Given the description of an element on the screen output the (x, y) to click on. 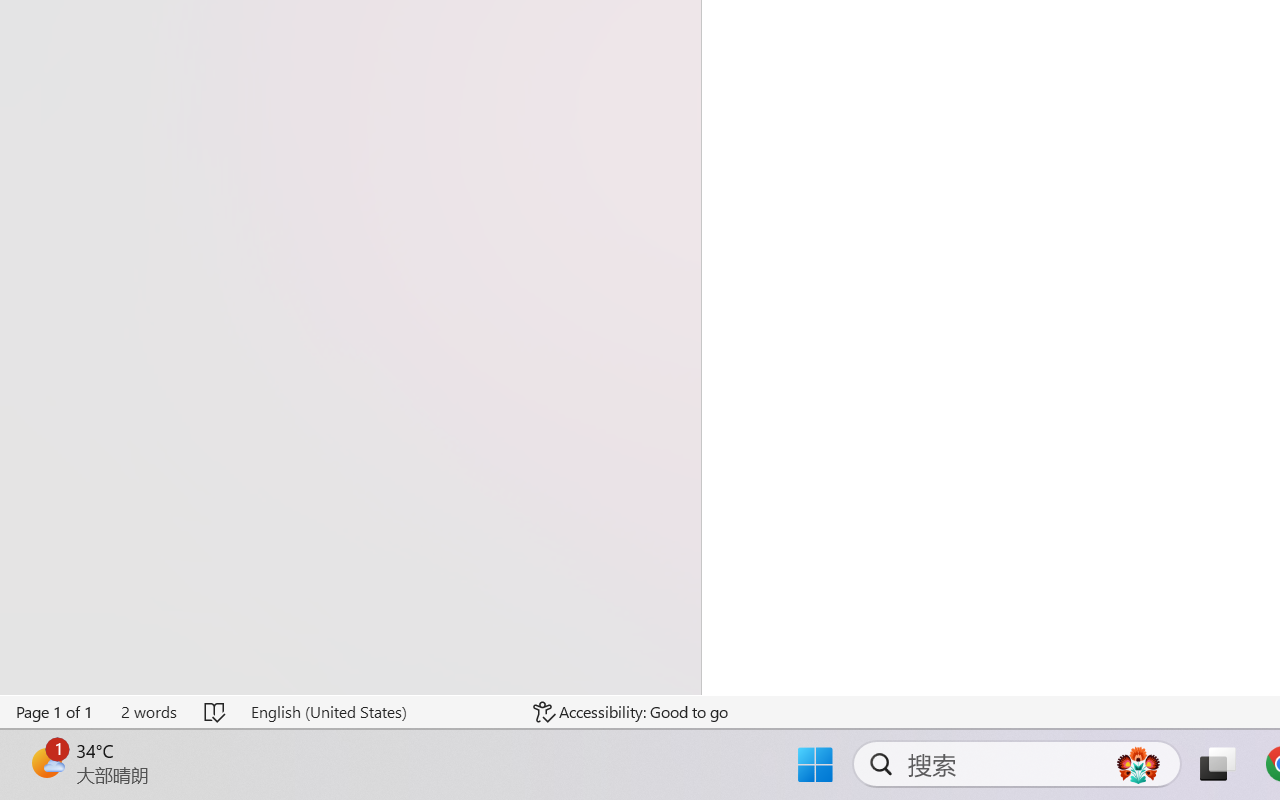
Page Number Page 1 of 1 (55, 712)
